Given the description of an element on the screen output the (x, y) to click on. 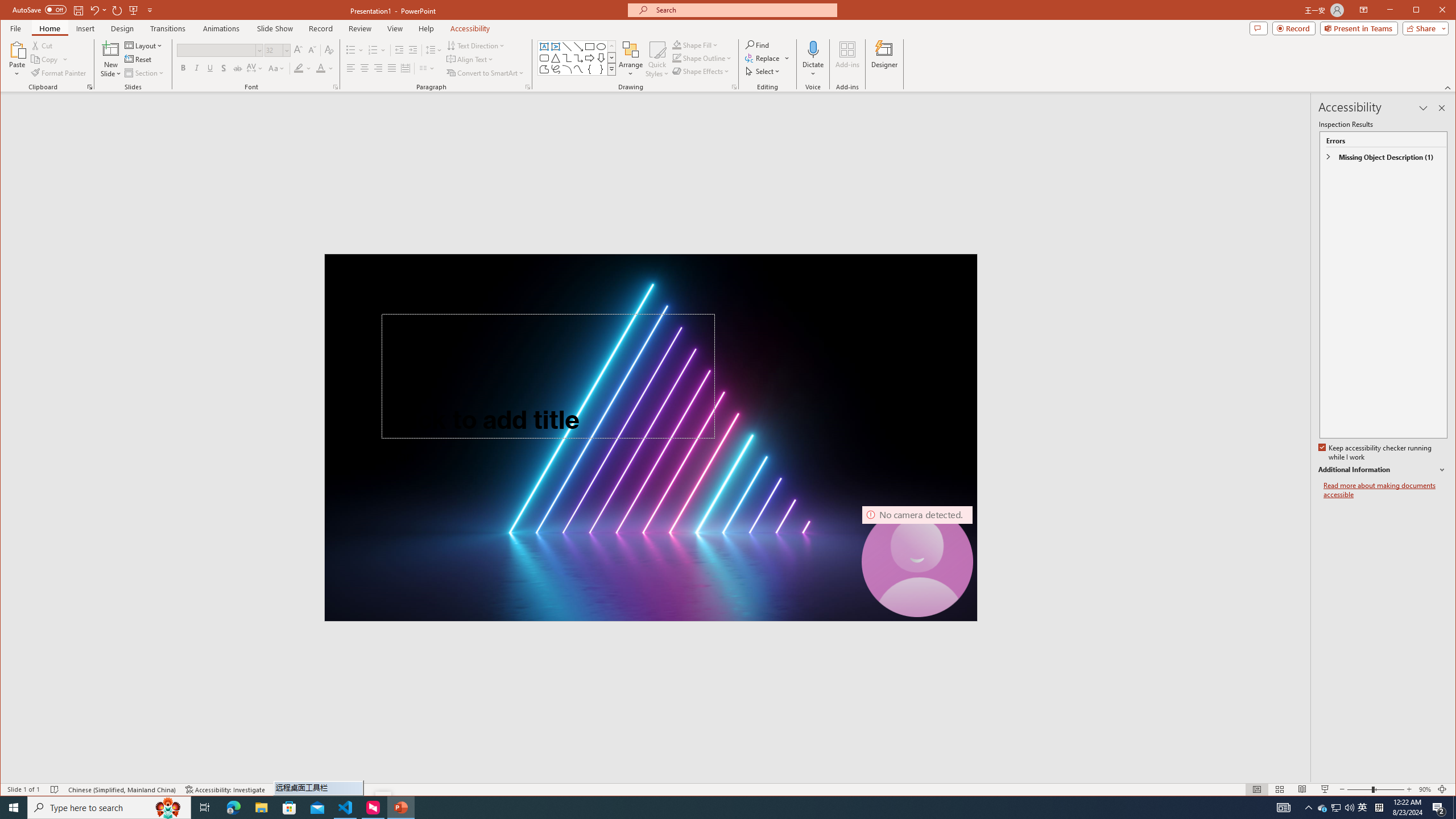
Running applications (700, 807)
Line (567, 46)
Cut (42, 45)
Paragraph... (527, 86)
Layout (143, 45)
Format Object... (733, 86)
Isosceles Triangle (556, 57)
